Given the description of an element on the screen output the (x, y) to click on. 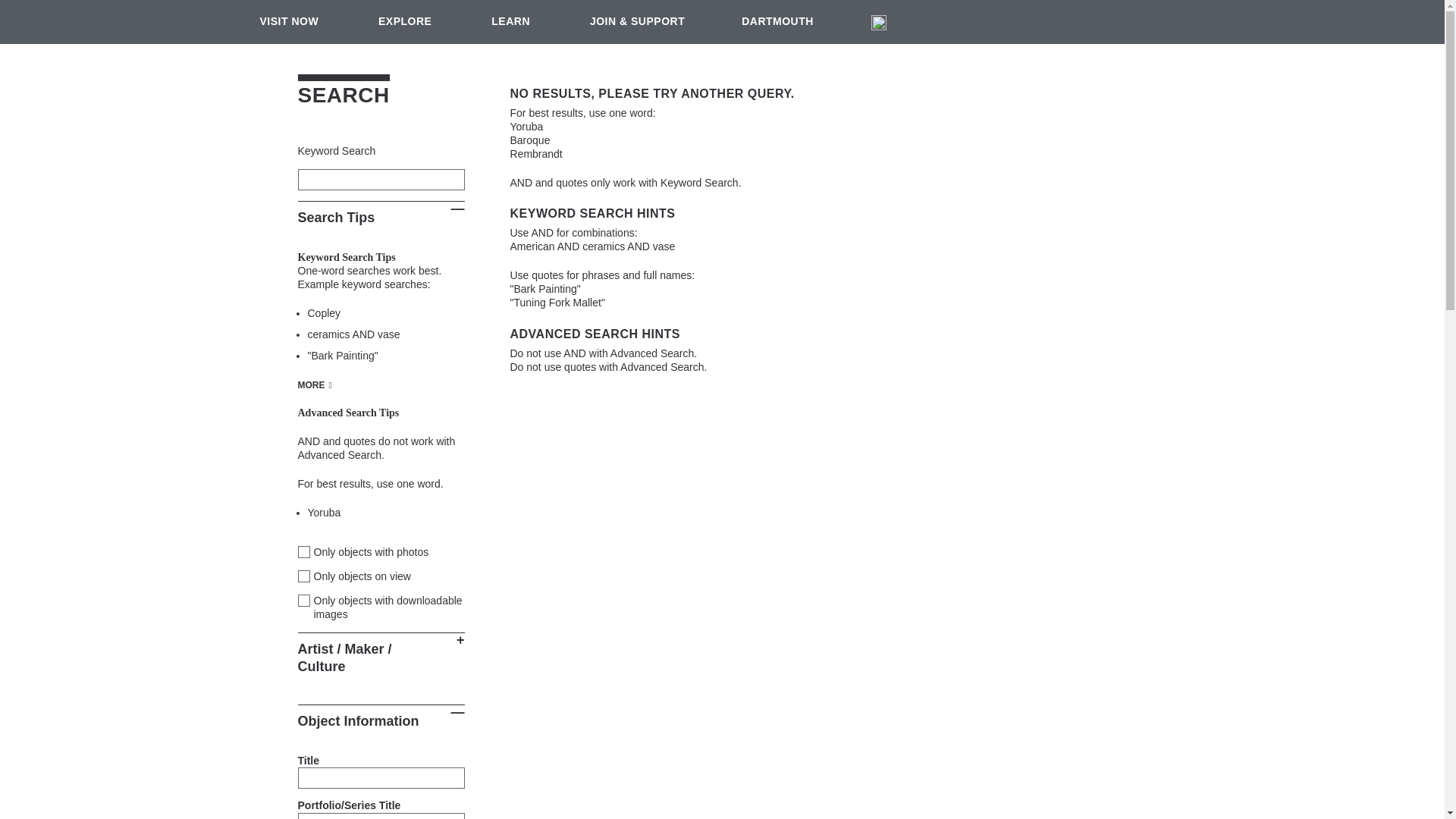
EXPLORE (405, 22)
1 (302, 600)
1 (302, 551)
HOOD (1393, 20)
VISIT NOW (288, 22)
1 (302, 576)
